Given the description of an element on the screen output the (x, y) to click on. 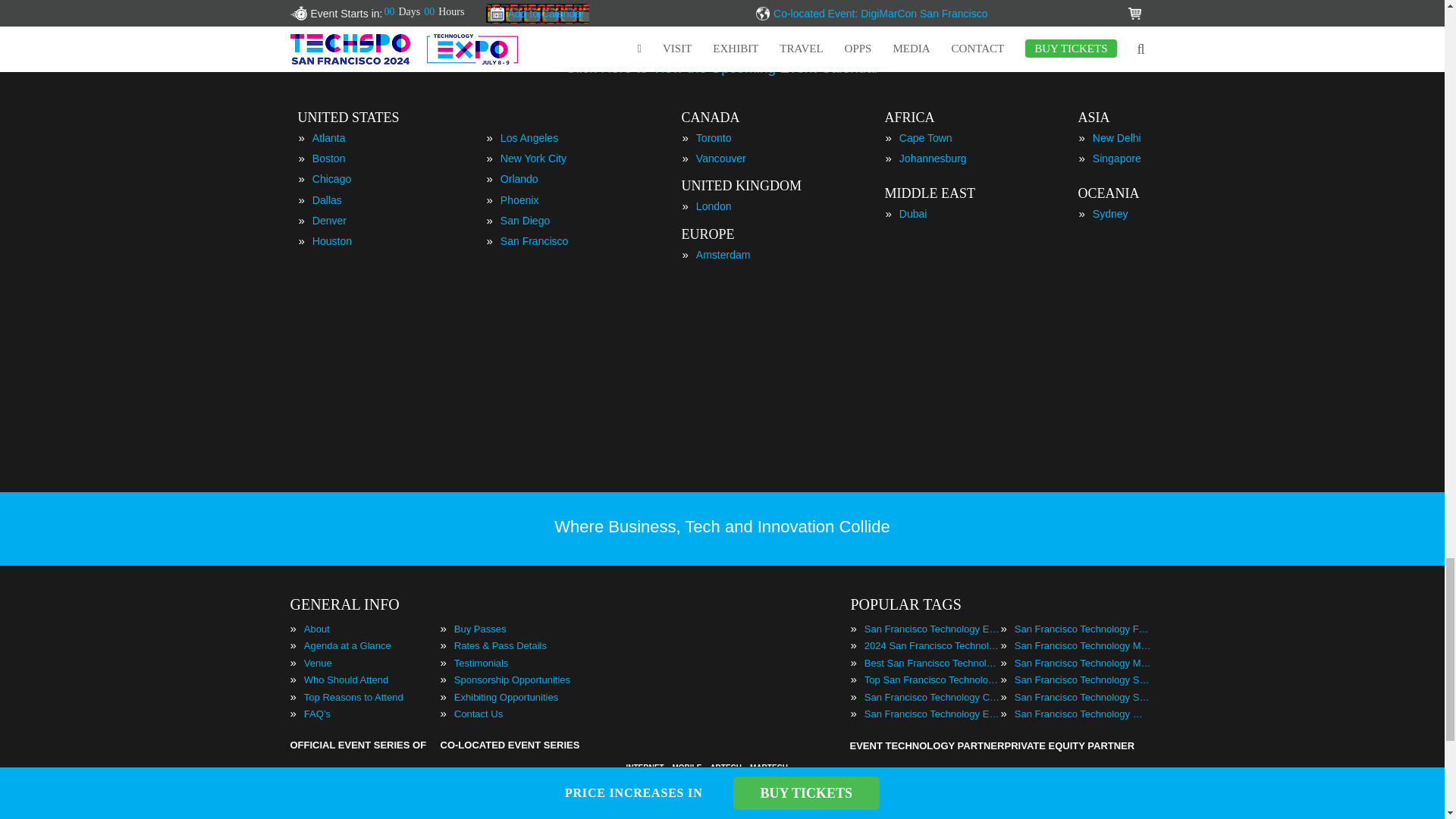
2 (714, 43)
3 (769, 43)
5 (619, 43)
